Given the description of an element on the screen output the (x, y) to click on. 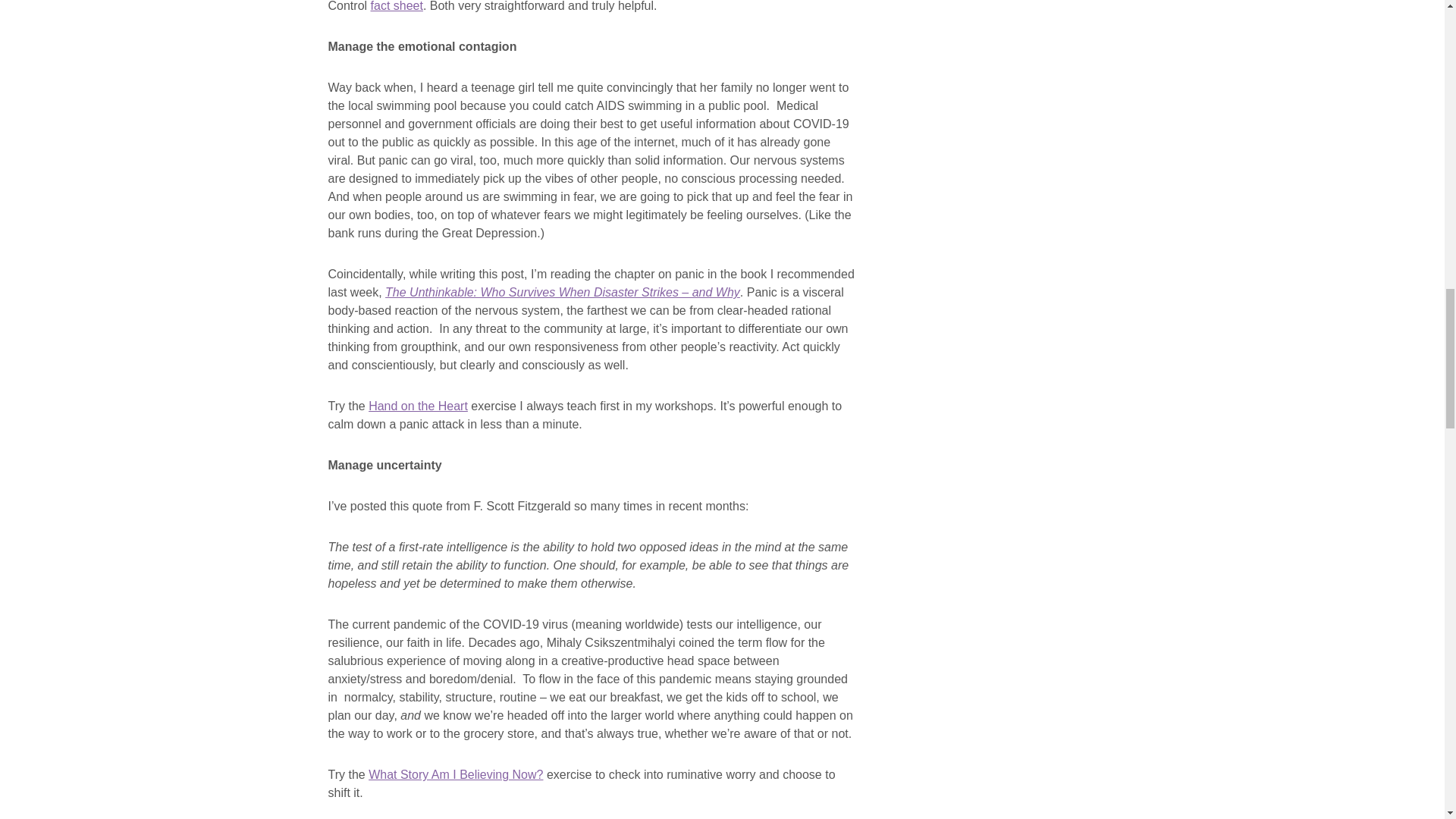
What Story Am I Believing Now? (455, 774)
Hand on the Heart (417, 405)
fact sheet (397, 6)
